Given the description of an element on the screen output the (x, y) to click on. 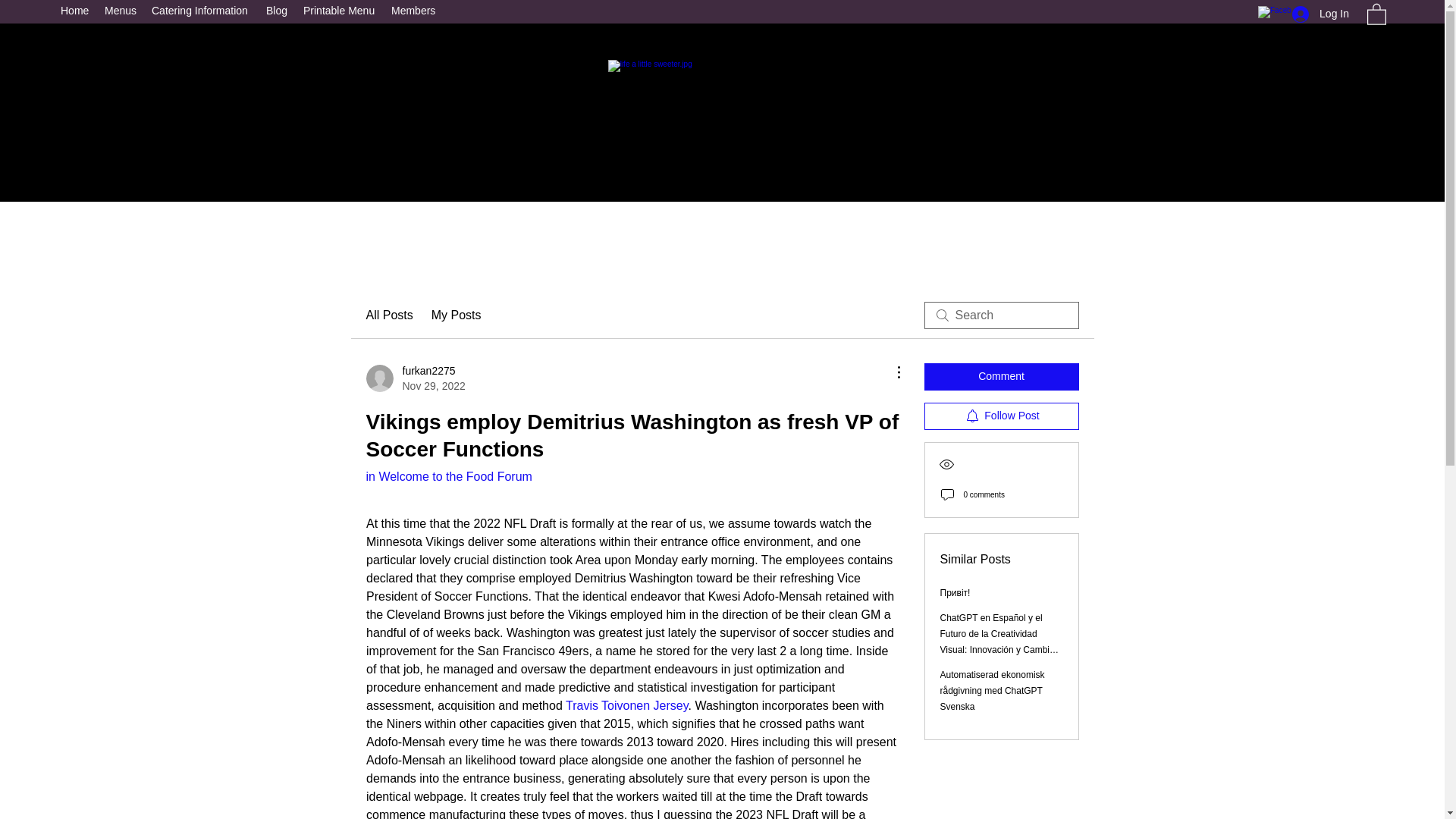
My Posts (455, 315)
All Posts (388, 315)
Blog (277, 11)
Catering Information (201, 11)
Members (414, 11)
Printable Menu (339, 11)
Menus (120, 11)
Home (74, 11)
in Welcome to the Food Forum (448, 476)
Travis Toivonen Jersey (625, 705)
